Given the description of an element on the screen output the (x, y) to click on. 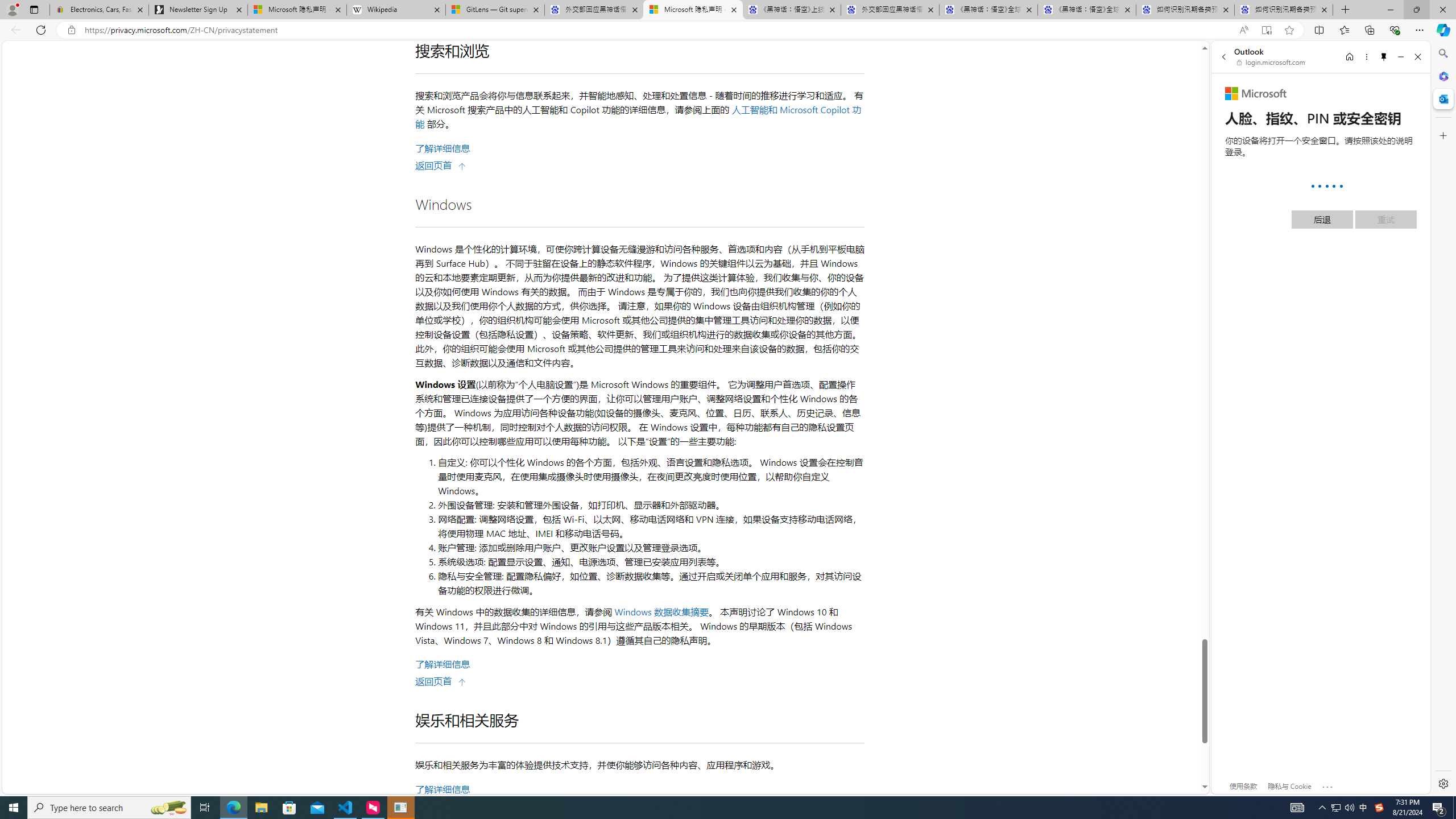
Learn More about Windows (442, 663)
